Given the description of an element on the screen output the (x, y) to click on. 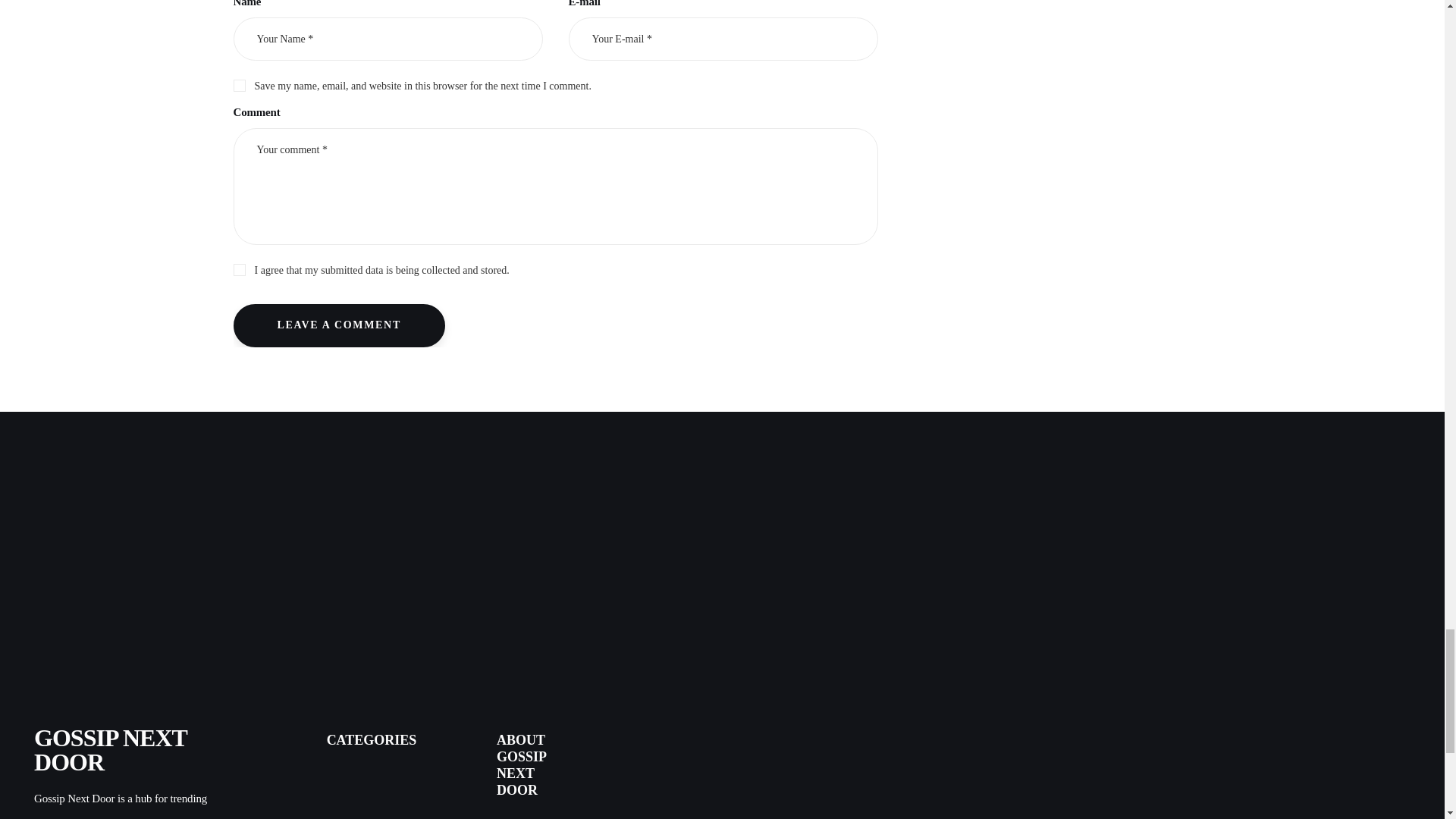
1 (554, 267)
yes (237, 83)
